Given the description of an element on the screen output the (x, y) to click on. 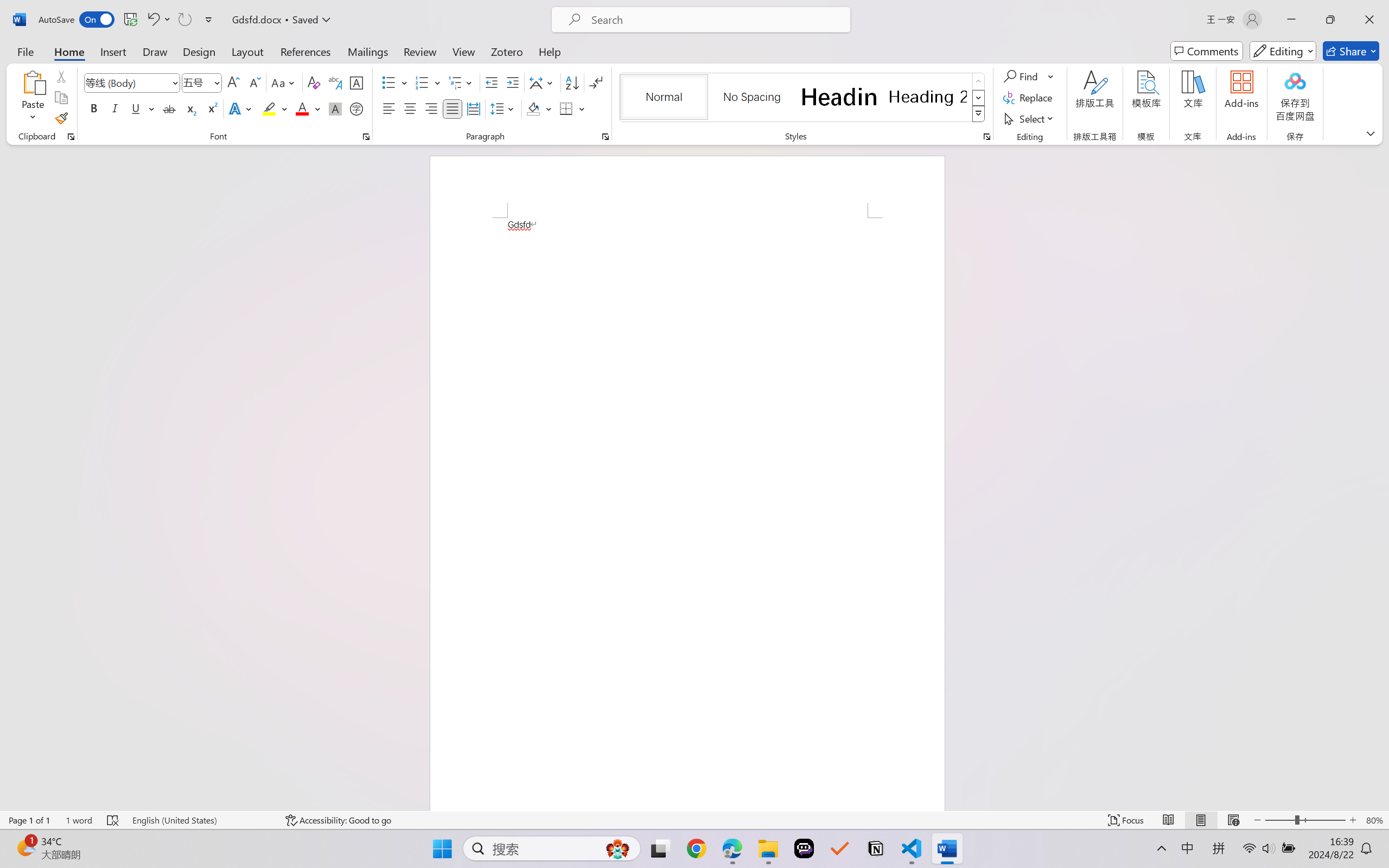
Undo Apply Quick Style (158, 19)
Microsoft search (715, 19)
